Given the description of an element on the screen output the (x, y) to click on. 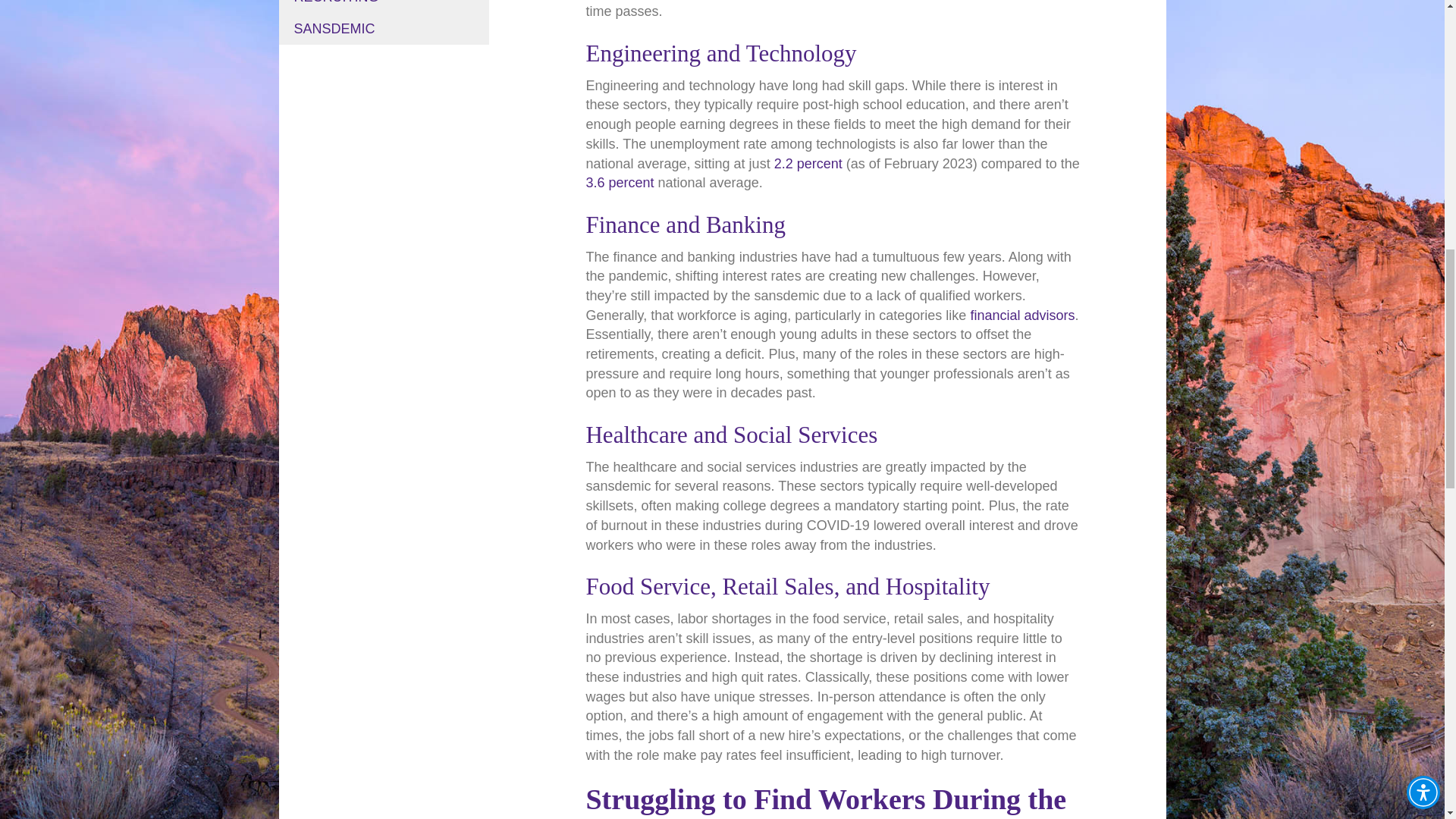
RECRUITING (384, 6)
